Given the description of an element on the screen output the (x, y) to click on. 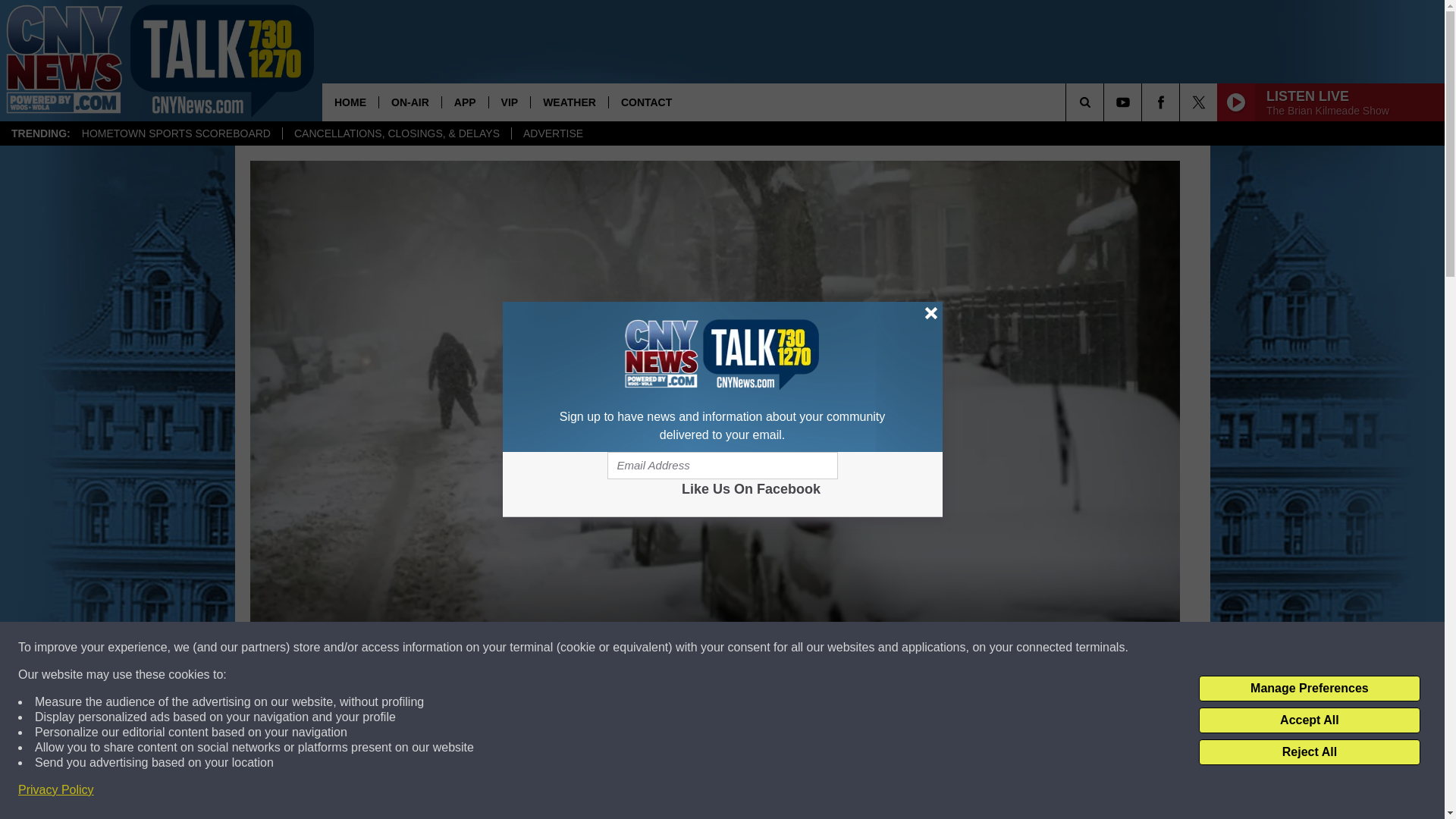
HOMETOWN SPORTS SCOREBOARD (175, 133)
HOME (349, 102)
SEARCH (1106, 102)
Manage Preferences (1309, 688)
SEARCH (1106, 102)
ADVERTISE (552, 133)
Accept All (1309, 720)
Privacy Policy (55, 789)
Share on Facebook (517, 791)
APP (464, 102)
WEATHER (568, 102)
Share on Twitter (912, 791)
Reject All (1309, 751)
VIP (509, 102)
CONTACT (646, 102)
